Given the description of an element on the screen output the (x, y) to click on. 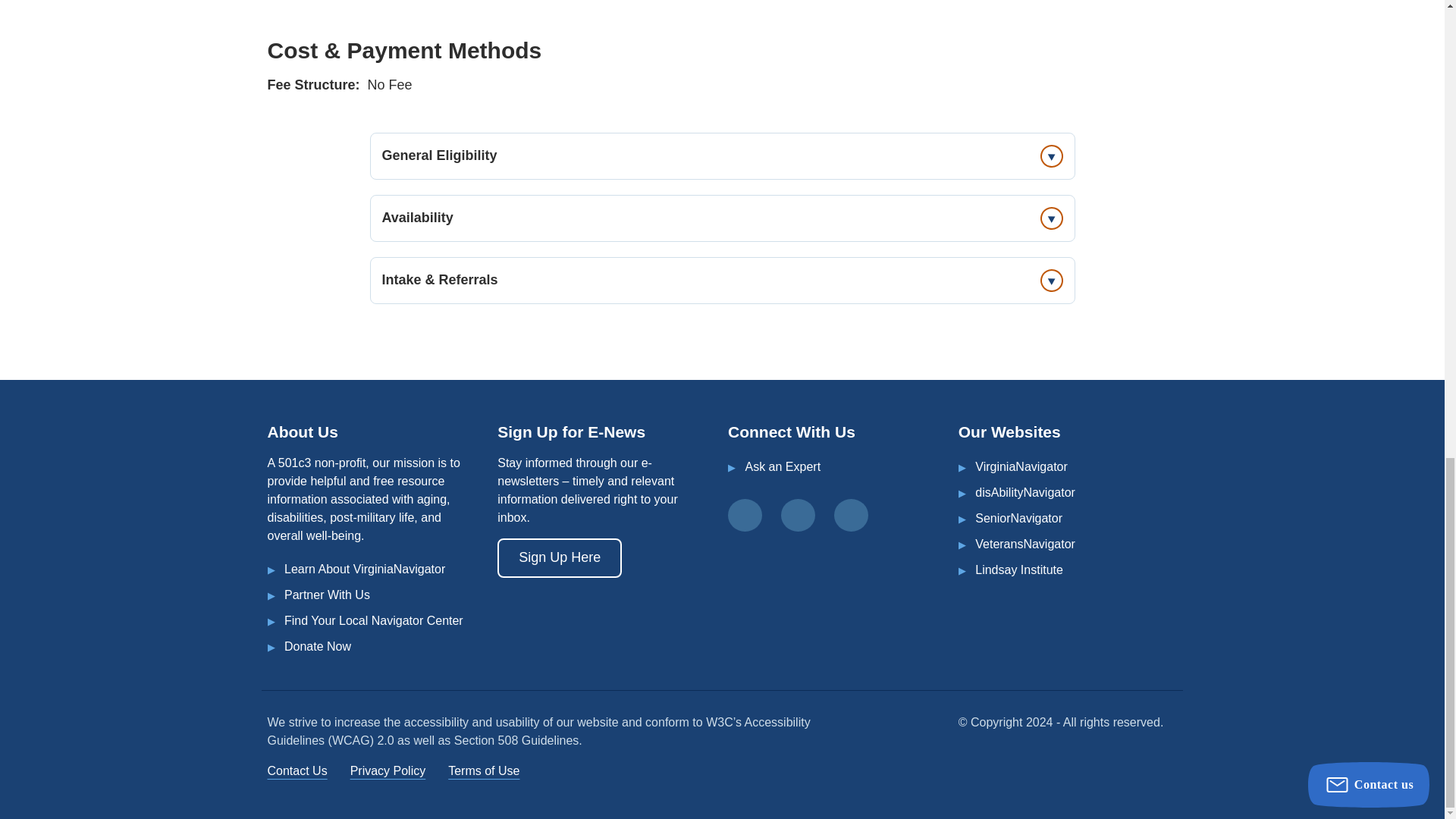
About Us (364, 568)
